Given the description of an element on the screen output the (x, y) to click on. 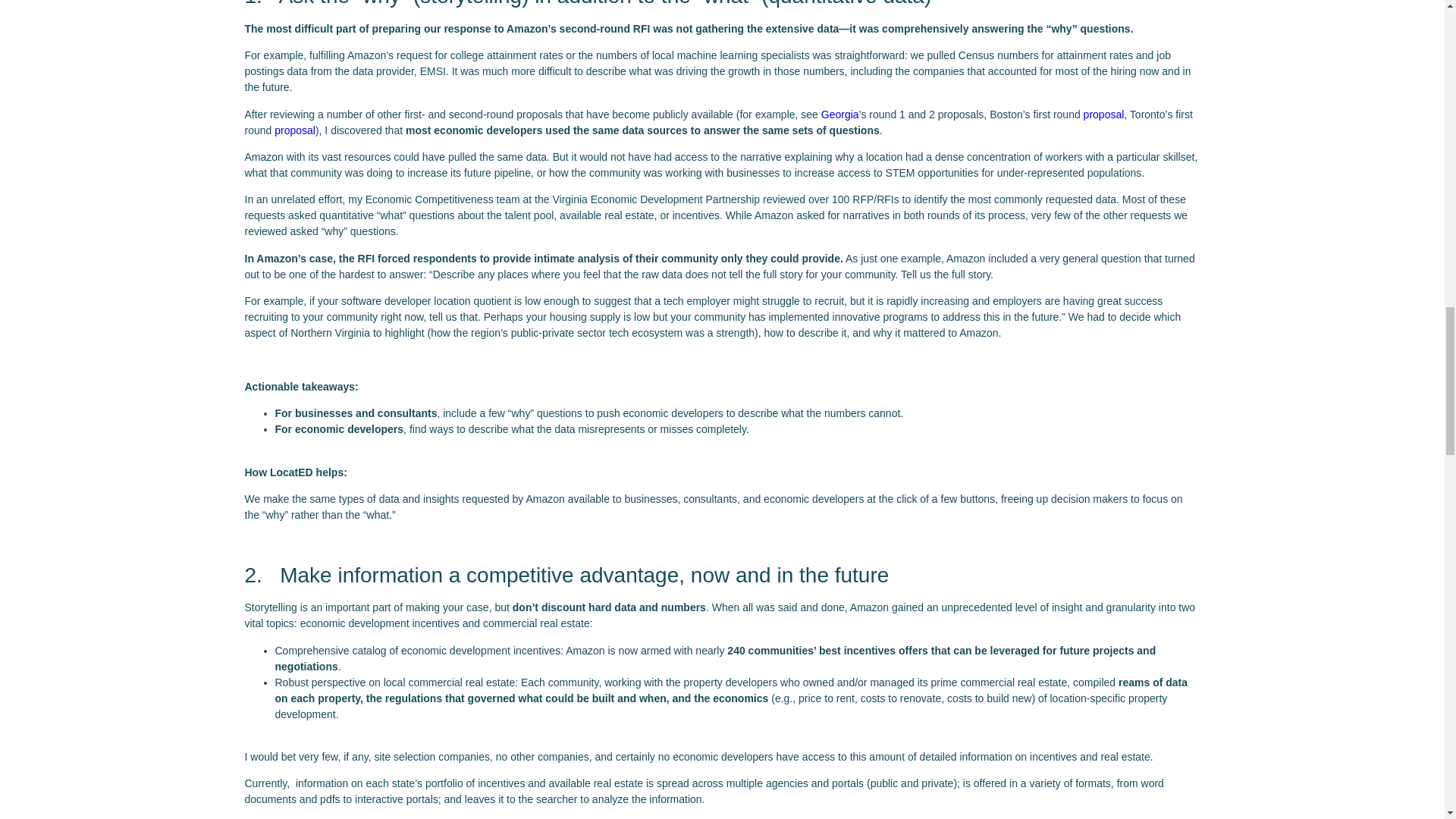
Georgia (840, 114)
proposal (1103, 114)
proposal (295, 130)
